Given the description of an element on the screen output the (x, y) to click on. 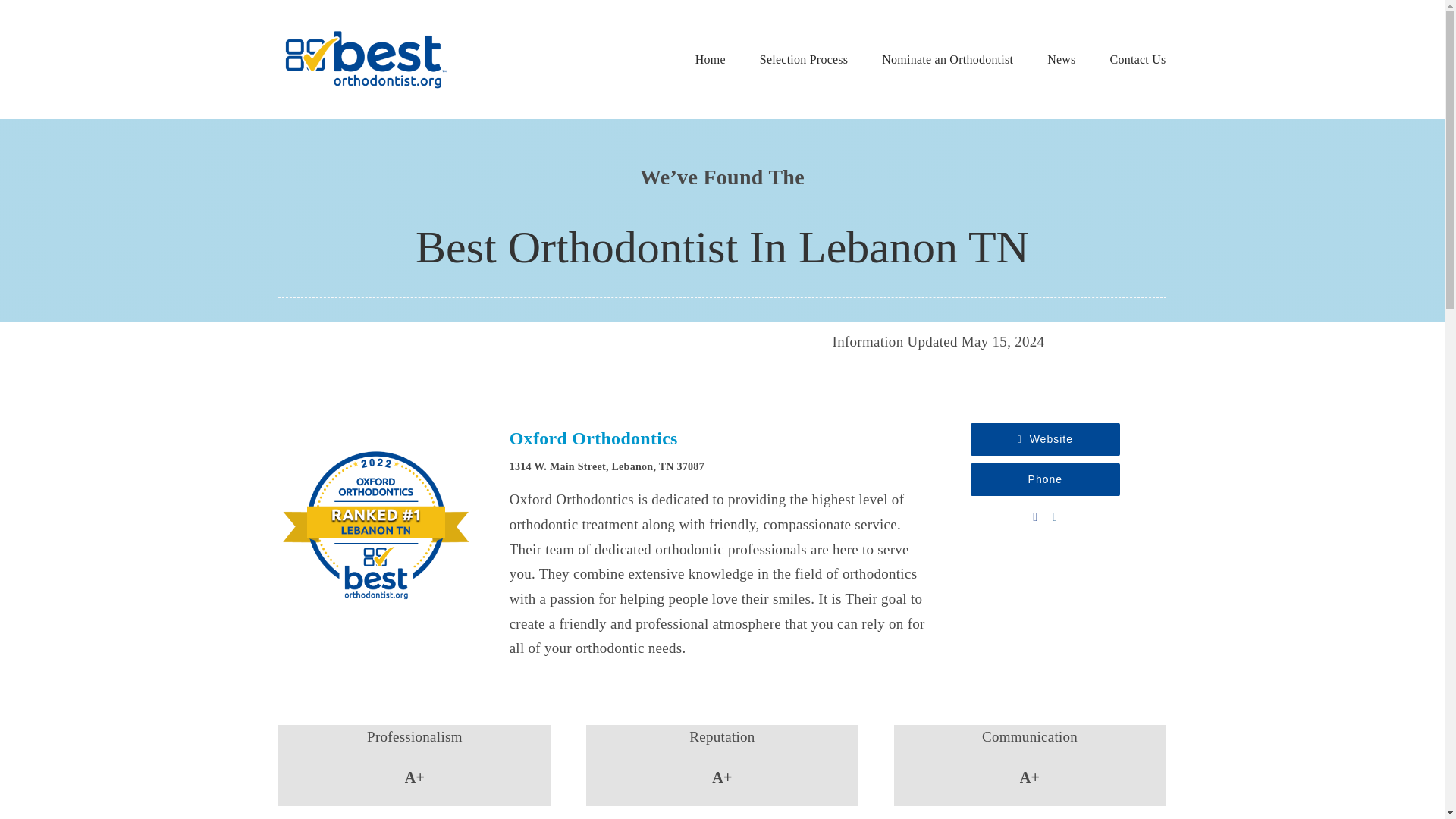
Phone (1045, 479)
Selection Process (804, 60)
Contact Us (1137, 60)
Oxford Orthodontics (593, 437)
Nominate an Orthodontist (947, 60)
Website (1045, 439)
